Given the description of an element on the screen output the (x, y) to click on. 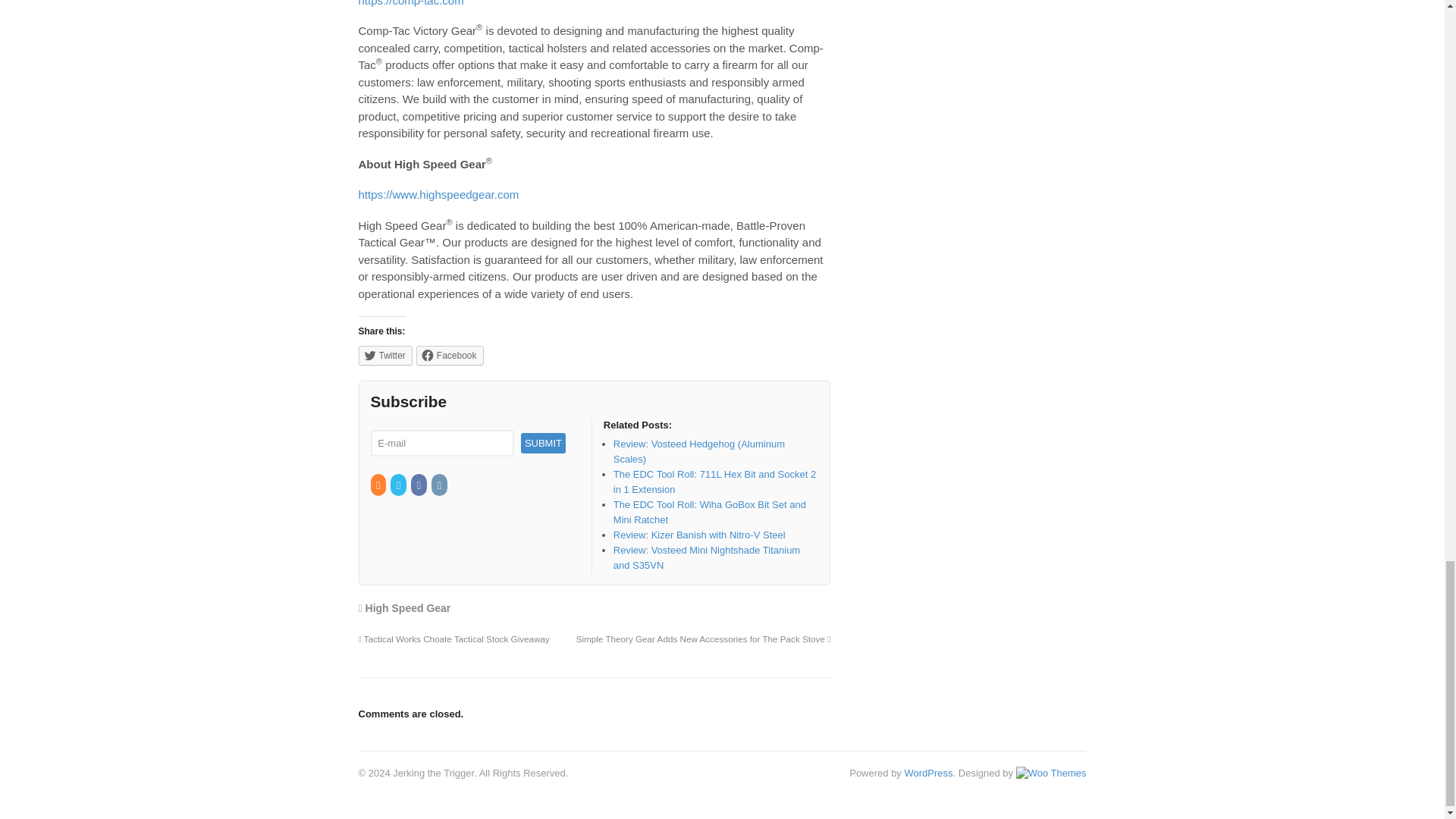
Instagram (439, 485)
Facebook (449, 355)
The EDC Tool Roll: Wiha GoBox Bit Set and Mini Ratchet (709, 511)
Submit (543, 443)
Facebook (419, 485)
E-mail (441, 442)
Submit (543, 443)
Tactical Works Choate Tactical Stock Giveaway (453, 638)
Review: Vosteed Mini Nightshade Titanium and S35VN (705, 557)
Simple Theory Gear Adds New Accessories for The Pack Stove (703, 638)
